Given the description of an element on the screen output the (x, y) to click on. 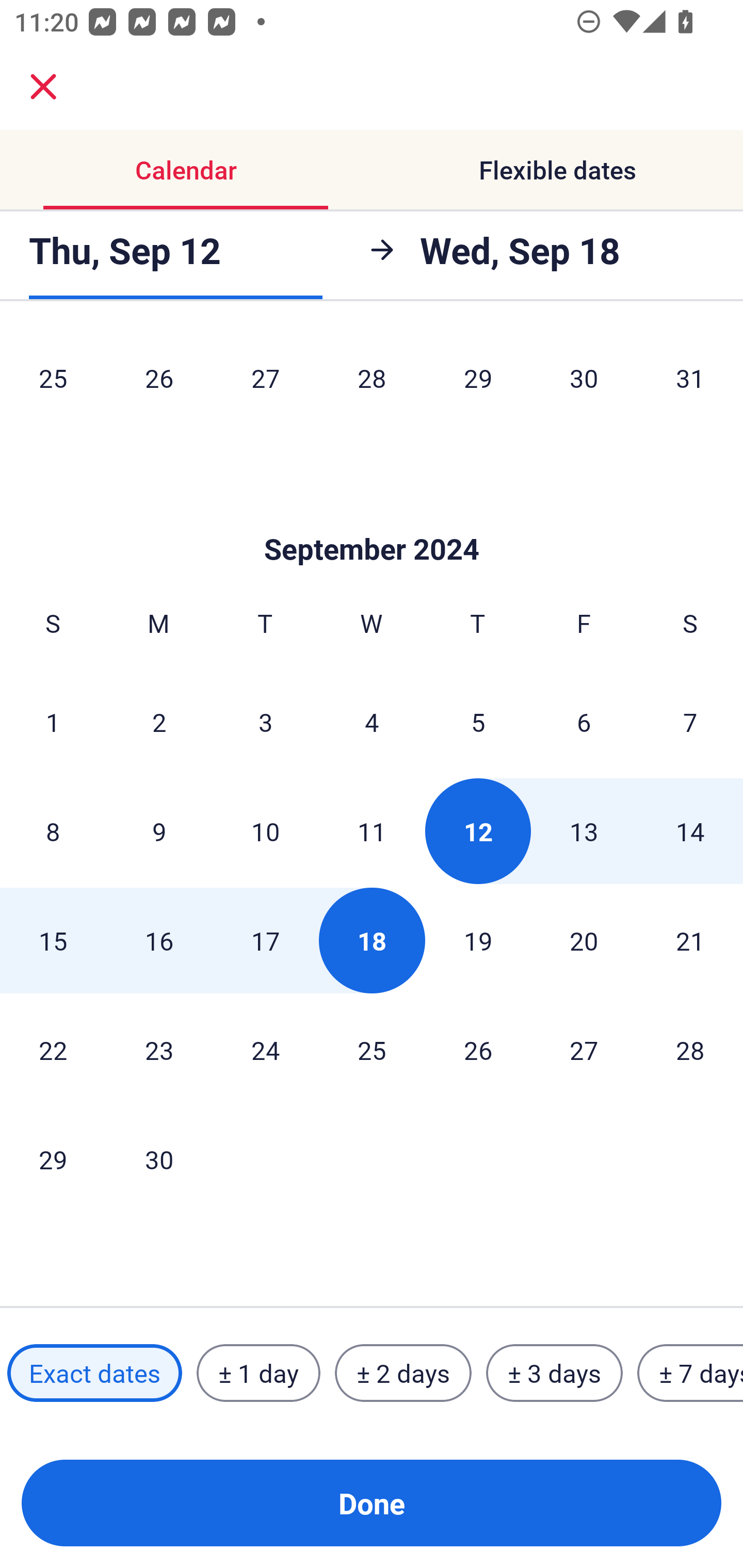
close. (43, 86)
Flexible dates (557, 170)
25 Sunday, August 25, 2024 (53, 380)
26 Monday, August 26, 2024 (159, 380)
27 Tuesday, August 27, 2024 (265, 380)
28 Wednesday, August 28, 2024 (371, 380)
29 Thursday, August 29, 2024 (477, 380)
30 Friday, August 30, 2024 (584, 380)
31 Saturday, August 31, 2024 (690, 380)
Skip to Done (371, 518)
1 Sunday, September 1, 2024 (53, 721)
2 Monday, September 2, 2024 (159, 721)
3 Tuesday, September 3, 2024 (265, 721)
4 Wednesday, September 4, 2024 (371, 721)
5 Thursday, September 5, 2024 (477, 721)
6 Friday, September 6, 2024 (584, 721)
7 Saturday, September 7, 2024 (690, 721)
8 Sunday, September 8, 2024 (53, 830)
9 Monday, September 9, 2024 (159, 830)
10 Tuesday, September 10, 2024 (265, 830)
